Given the description of an element on the screen output the (x, y) to click on. 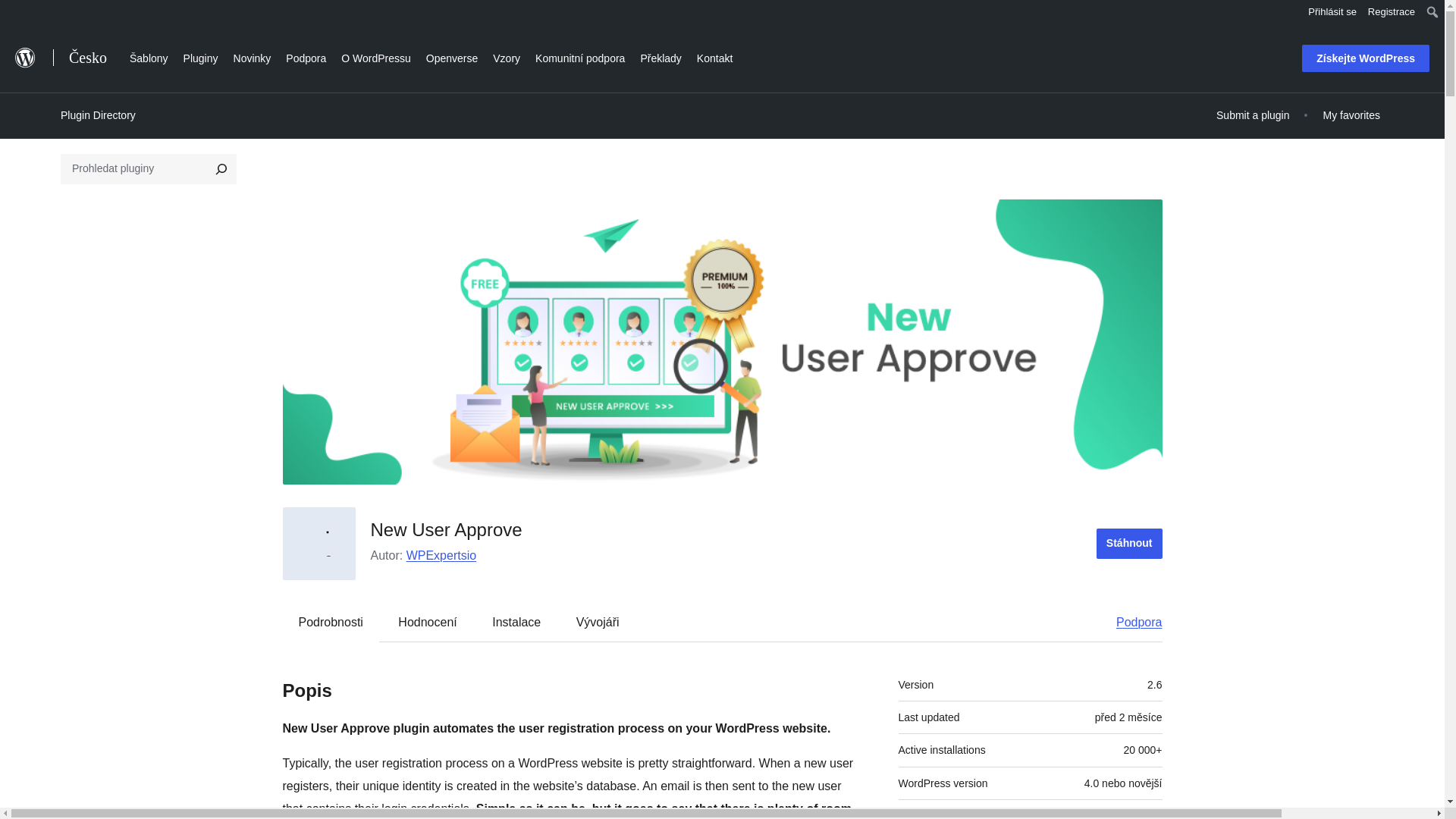
Podpora (1130, 622)
O WordPressu (376, 56)
Submit a plugin (1253, 115)
Openverse (451, 56)
My favorites (1351, 115)
Plugin Directory (97, 115)
WPExpertsio (441, 554)
Podrobnosti (330, 622)
Hledat (16, 13)
Instalace (516, 622)
Registrace (1391, 12)
